Given the description of an element on the screen output the (x, y) to click on. 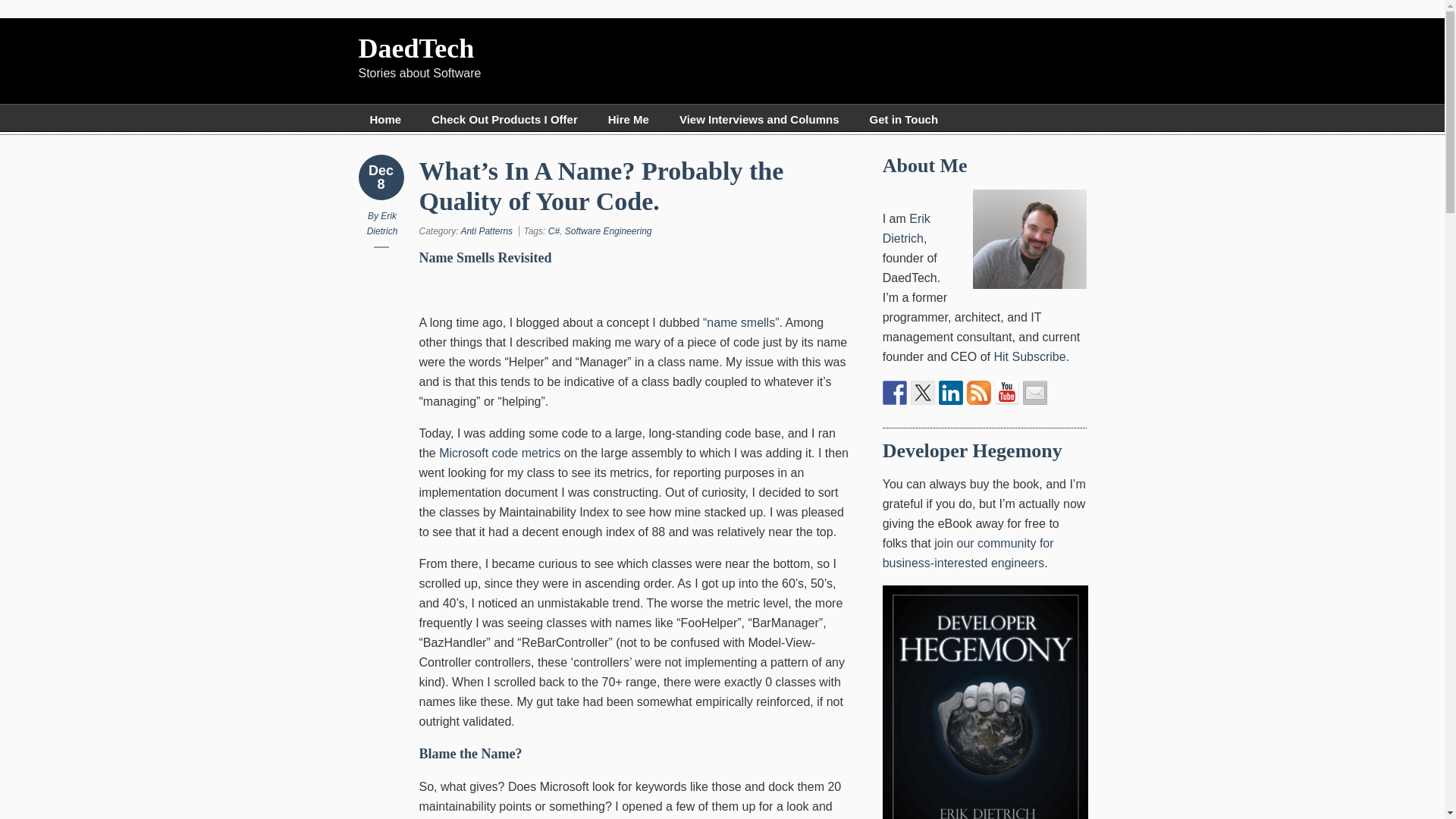
Get in Touch (904, 119)
Anti Patterns (486, 231)
Posts by Erik Dietrich (381, 223)
DaedTech on Twitter (922, 392)
DaedTech (416, 48)
DaedTech on LinkedIn (950, 392)
View Interviews and Columns (759, 119)
Erik Dietrich (906, 228)
DaedTech on Facebook (894, 392)
Hire Me (628, 119)
